Given the description of an element on the screen output the (x, y) to click on. 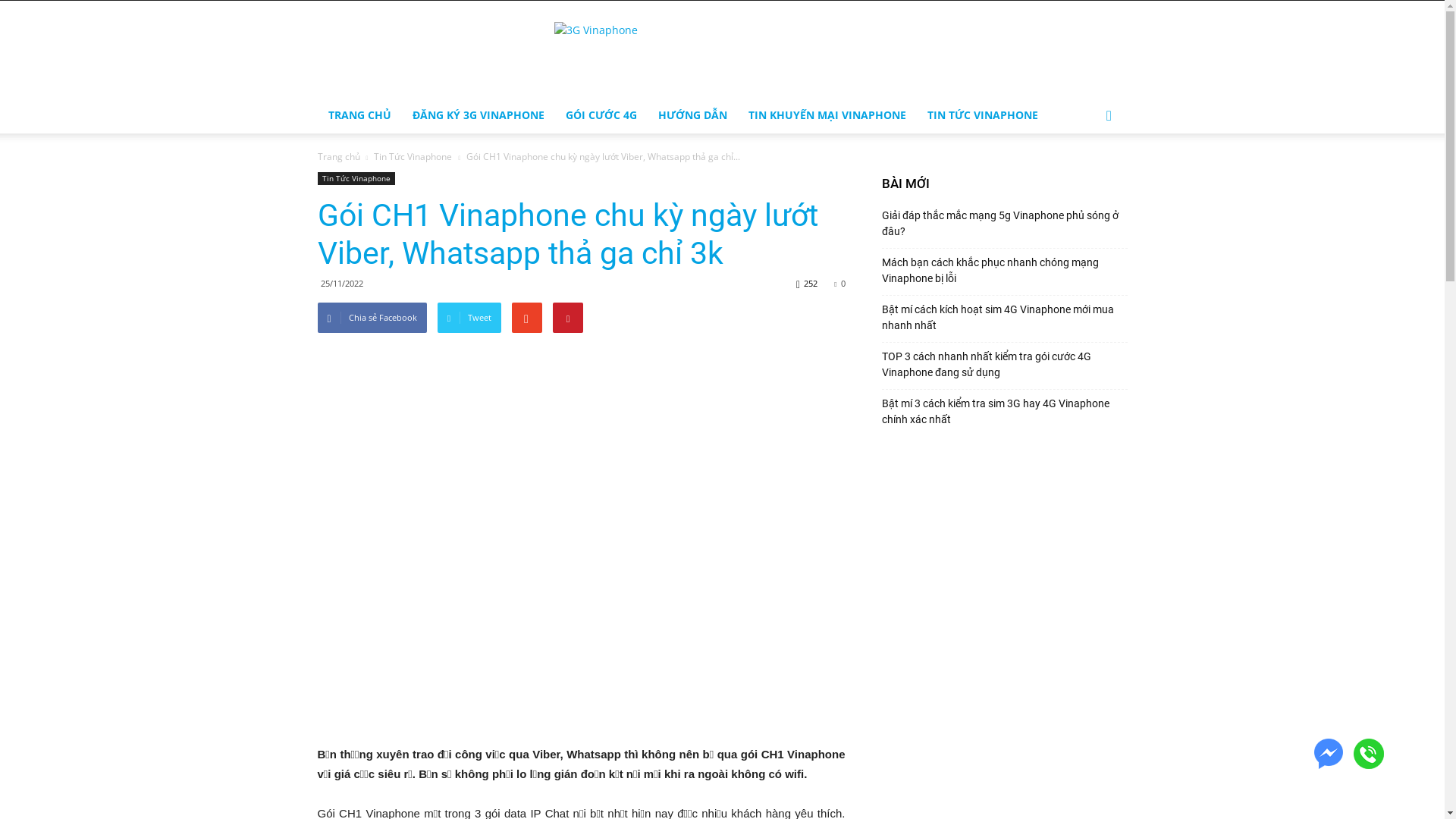
Tweet Element type: text (469, 317)
0 Element type: text (839, 282)
